Given the description of an element on the screen output the (x, y) to click on. 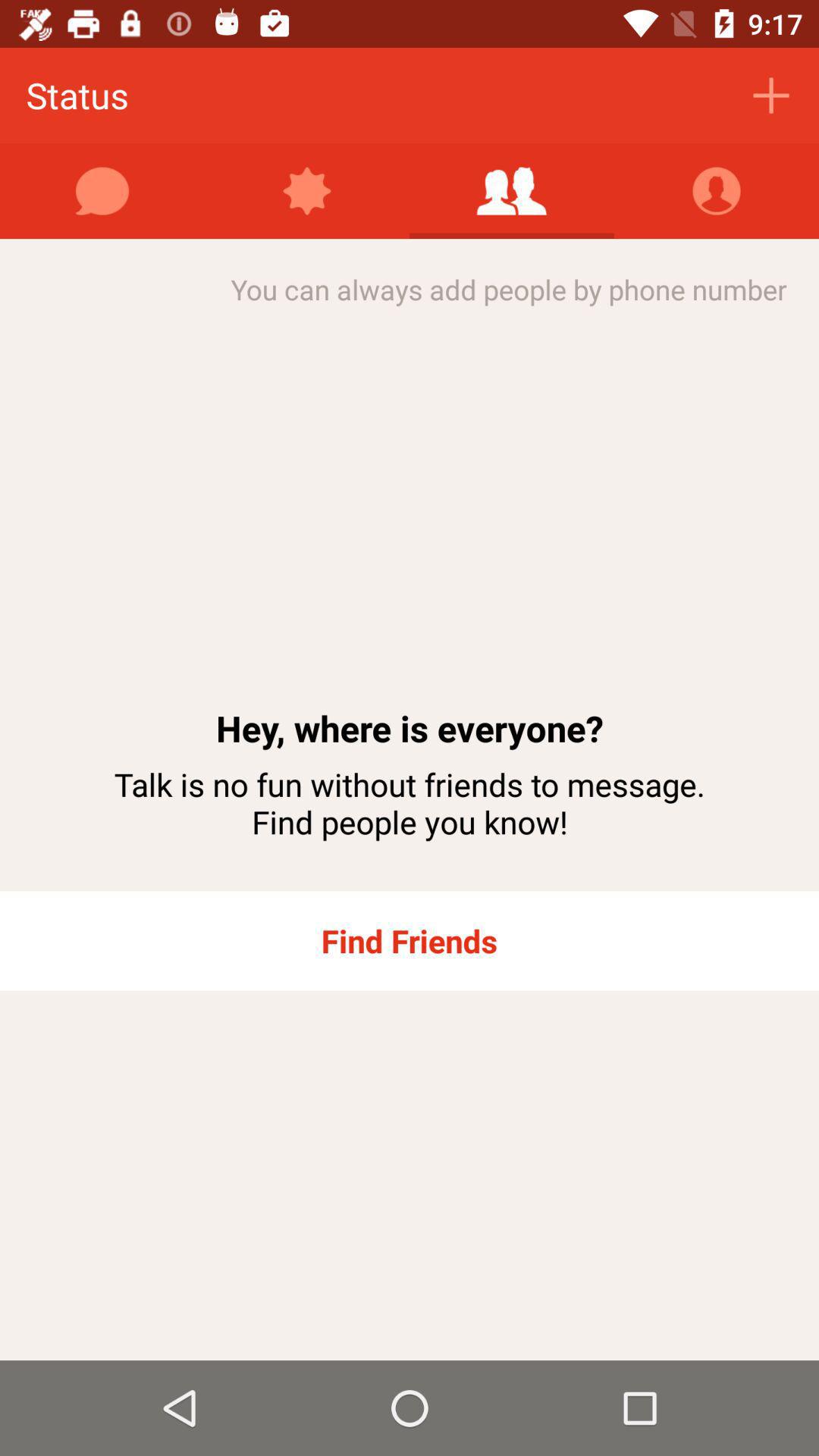
view profile (716, 190)
